Given the description of an element on the screen output the (x, y) to click on. 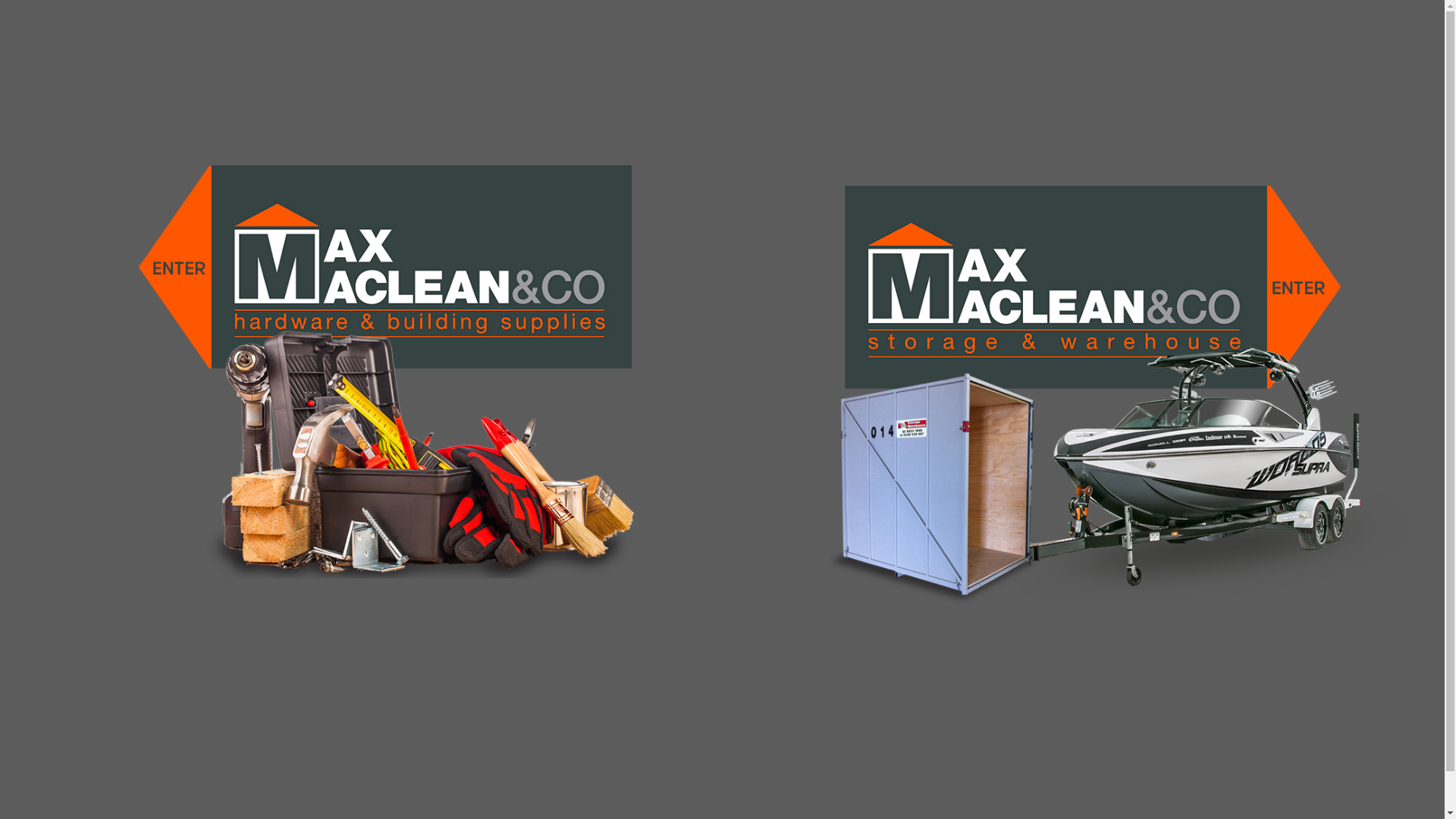
V2-hardware-enter-toolsB Element type: hover (370, 374)
V2-hardware-storage-imagesB Element type: hover (1075, 395)
